Given the description of an element on the screen output the (x, y) to click on. 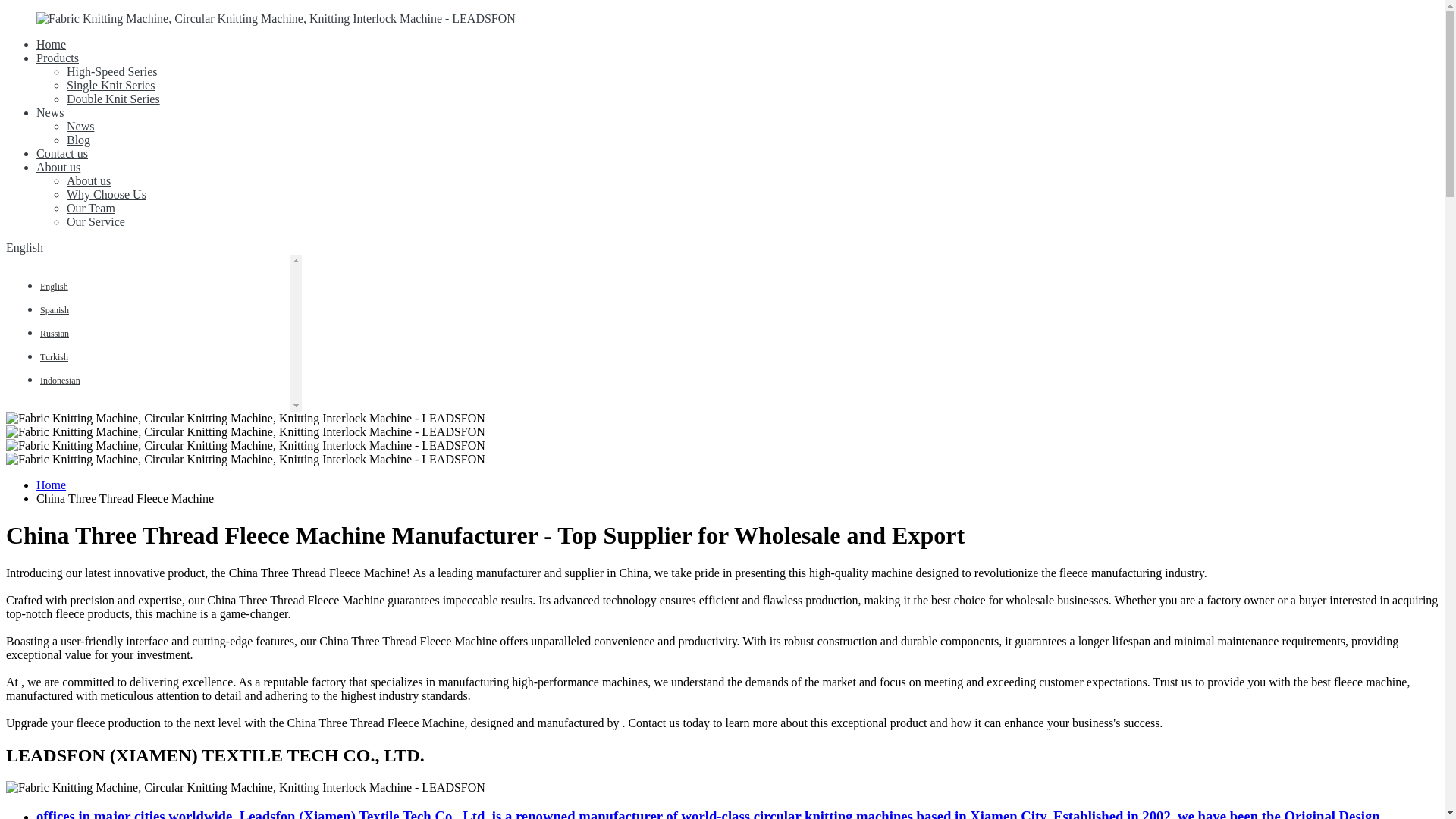
Blog (78, 139)
Contact us (61, 153)
Turkish (54, 355)
News (80, 125)
Russian (54, 332)
Turkish (54, 355)
Spanish (54, 308)
Why Choose Us (106, 194)
English (54, 285)
English (24, 246)
Single Knit Series (110, 84)
English (54, 285)
About us (58, 166)
Spanish (54, 308)
Indonesian (60, 379)
